Given the description of an element on the screen output the (x, y) to click on. 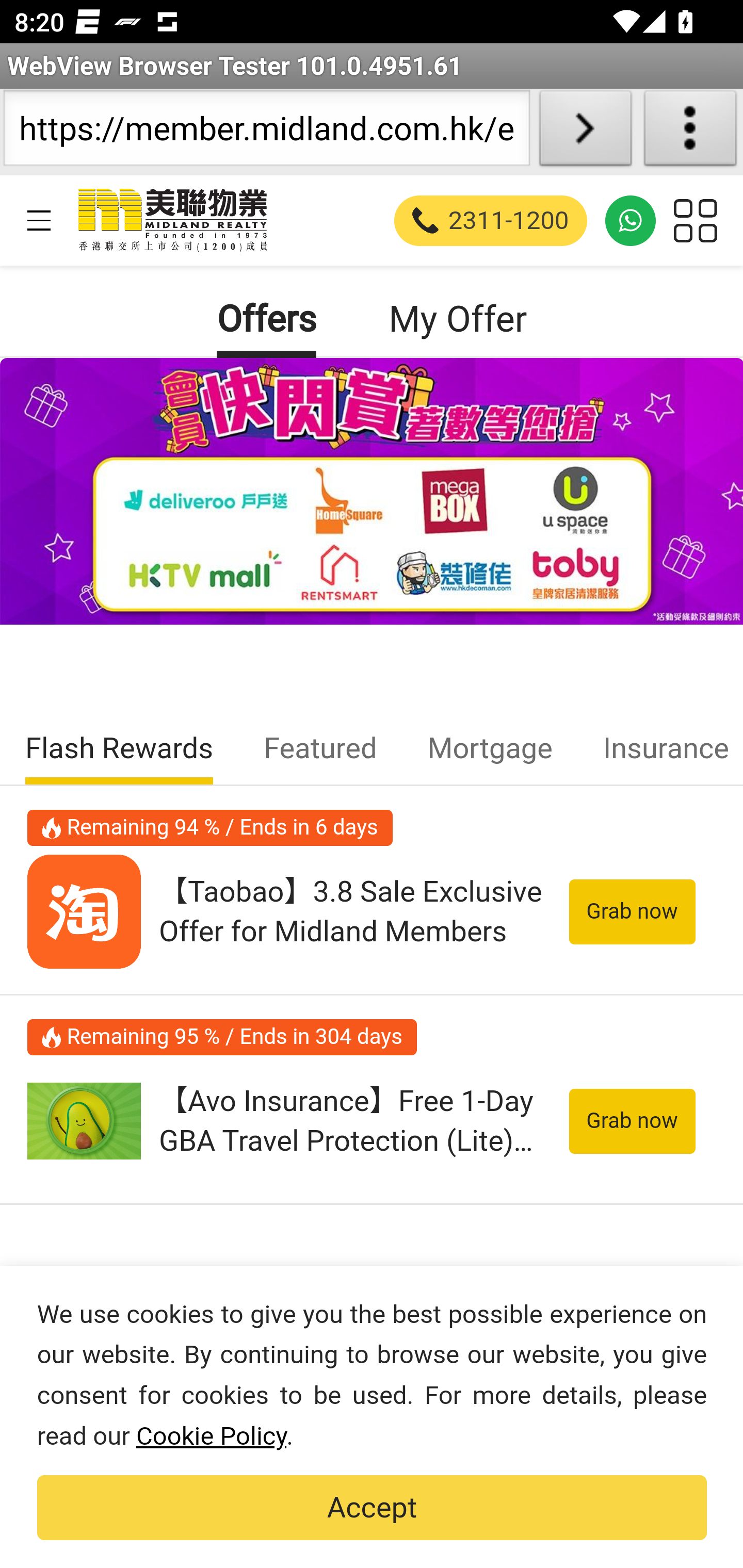
https://member.midland.com.hk/en/offers#50YRS (266, 132)
Load URL (585, 132)
About WebView (690, 132)
Midland Realty - Property Agency in Hong Kong (171, 220)
2311-1200 (490, 219)
WhatsApp: 2311-1200 (630, 219)
Offers (267, 319)
My Offer (457, 319)
Flash Rewards (119, 748)
Featured (320, 748)
Mortgage (489, 748)
Insurance (659, 748)
Grab now (631, 911)
Grab now (631, 1120)
Cookie Policy (210, 1435)
Accept (372, 1508)
